Given the description of an element on the screen output the (x, y) to click on. 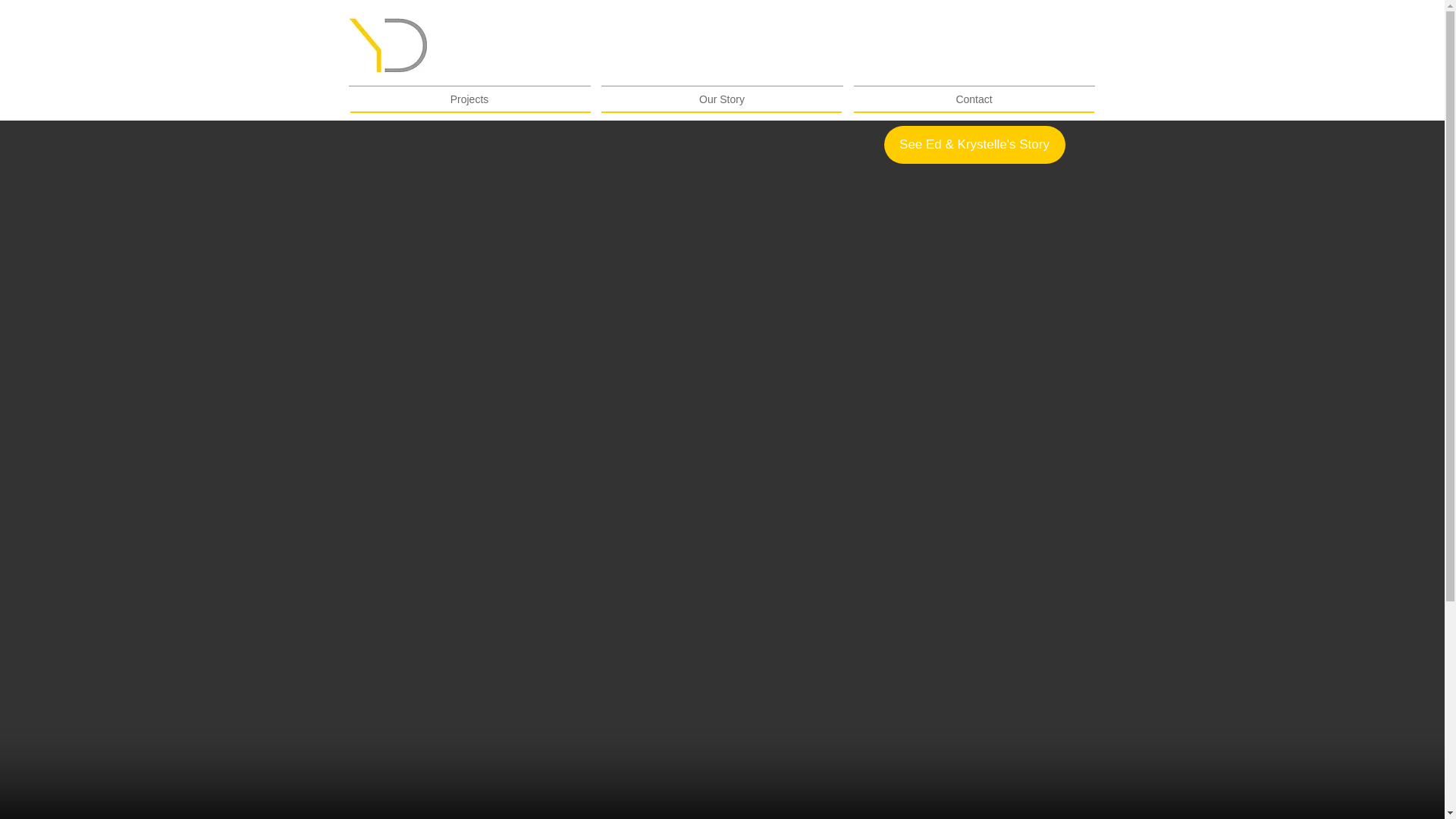
Our Story (721, 92)
Contact (973, 92)
Projects (468, 92)
